Given the description of an element on the screen output the (x, y) to click on. 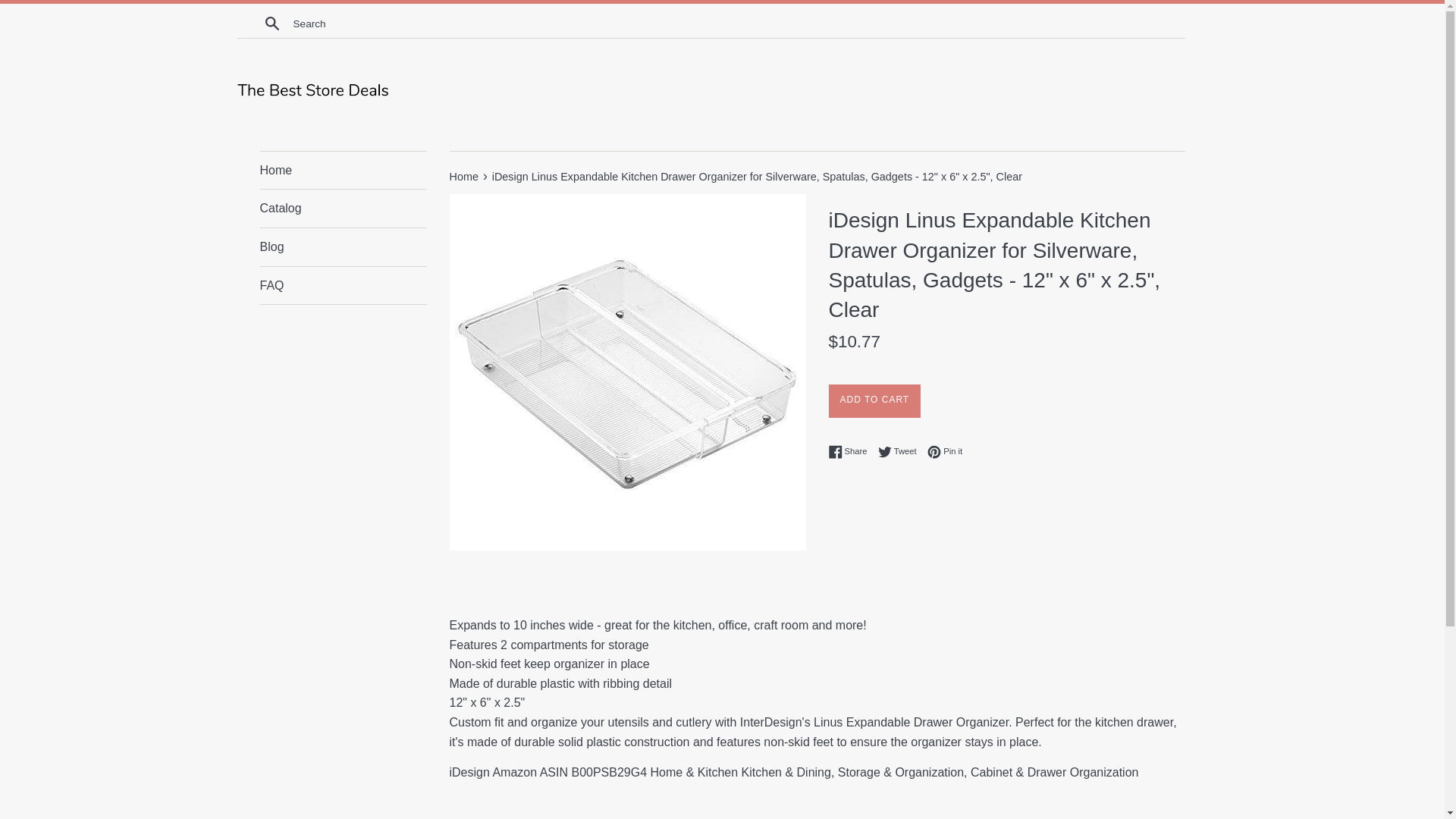
Catalog (944, 451)
Home (342, 208)
Back to the frontpage (342, 170)
Share on Facebook (464, 176)
Tweet on Twitter (851, 451)
Home (851, 451)
ADD TO CART (900, 451)
Pin on Pinterest (464, 176)
